Given the description of an element on the screen output the (x, y) to click on. 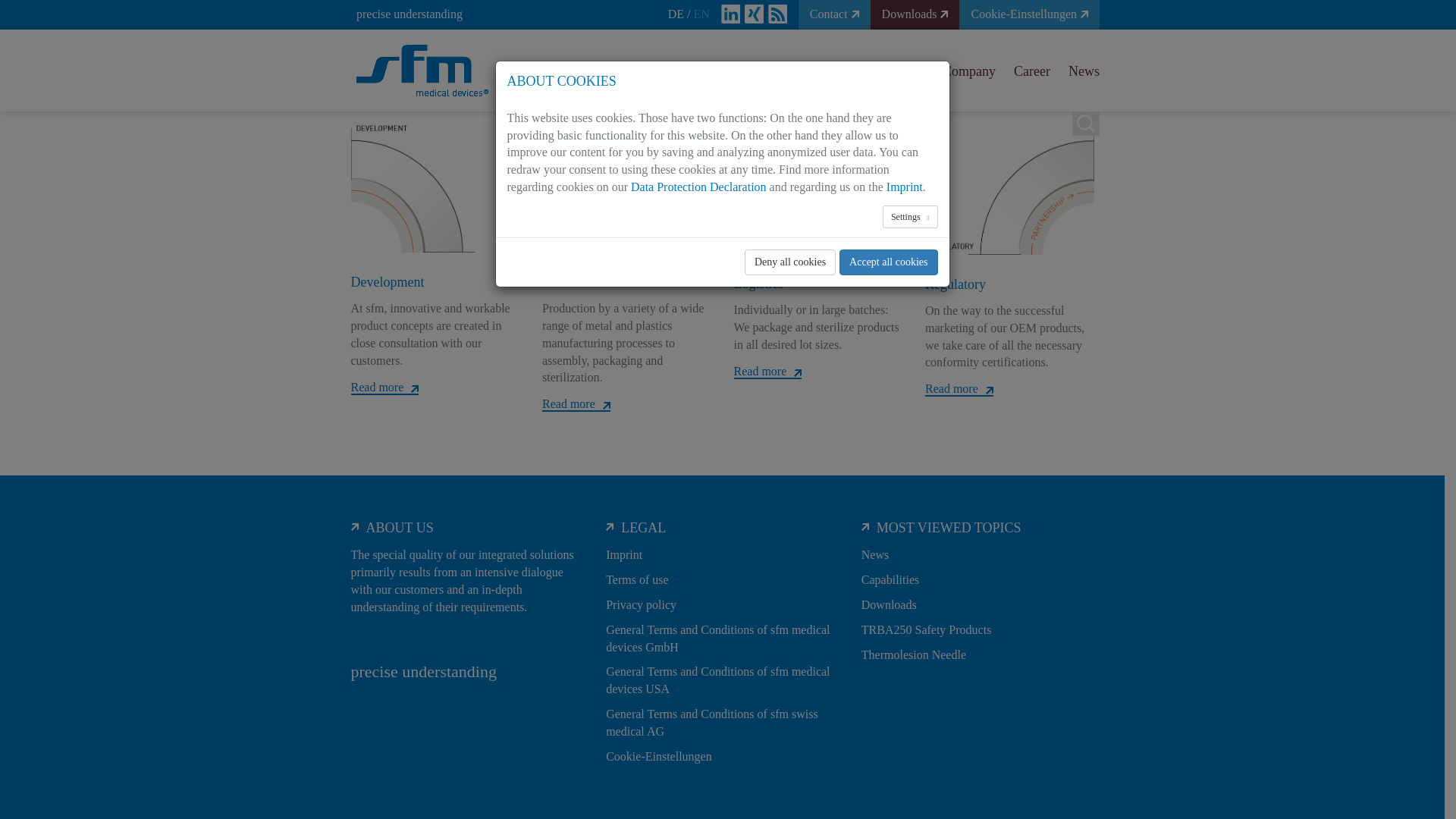
Competence Regulatory (1009, 186)
Competence Logistics (817, 186)
Competence Regulatory (1009, 187)
Competence Production (626, 185)
Competence Logistics (817, 187)
Competence Development (434, 187)
Competence Development (434, 185)
Competence Production (626, 186)
